Given the description of an element on the screen output the (x, y) to click on. 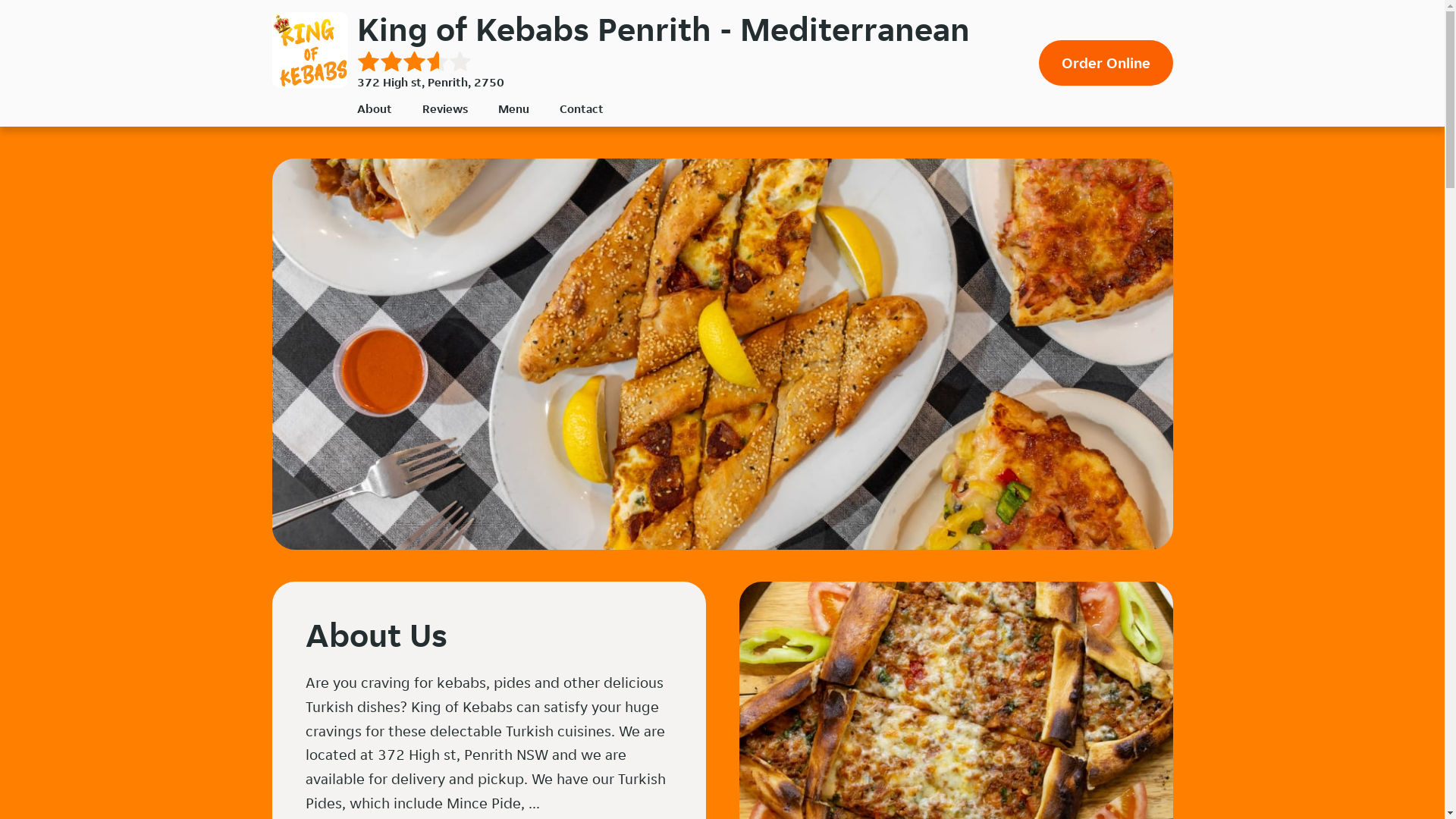
Reviews Element type: text (444, 108)
About Element type: text (373, 108)
King of Kebabs Penrith Element type: hover (309, 49)
Order Online Element type: text (1105, 62)
Menu Element type: text (512, 108)
Contact Element type: text (581, 108)
